Given the description of an element on the screen output the (x, y) to click on. 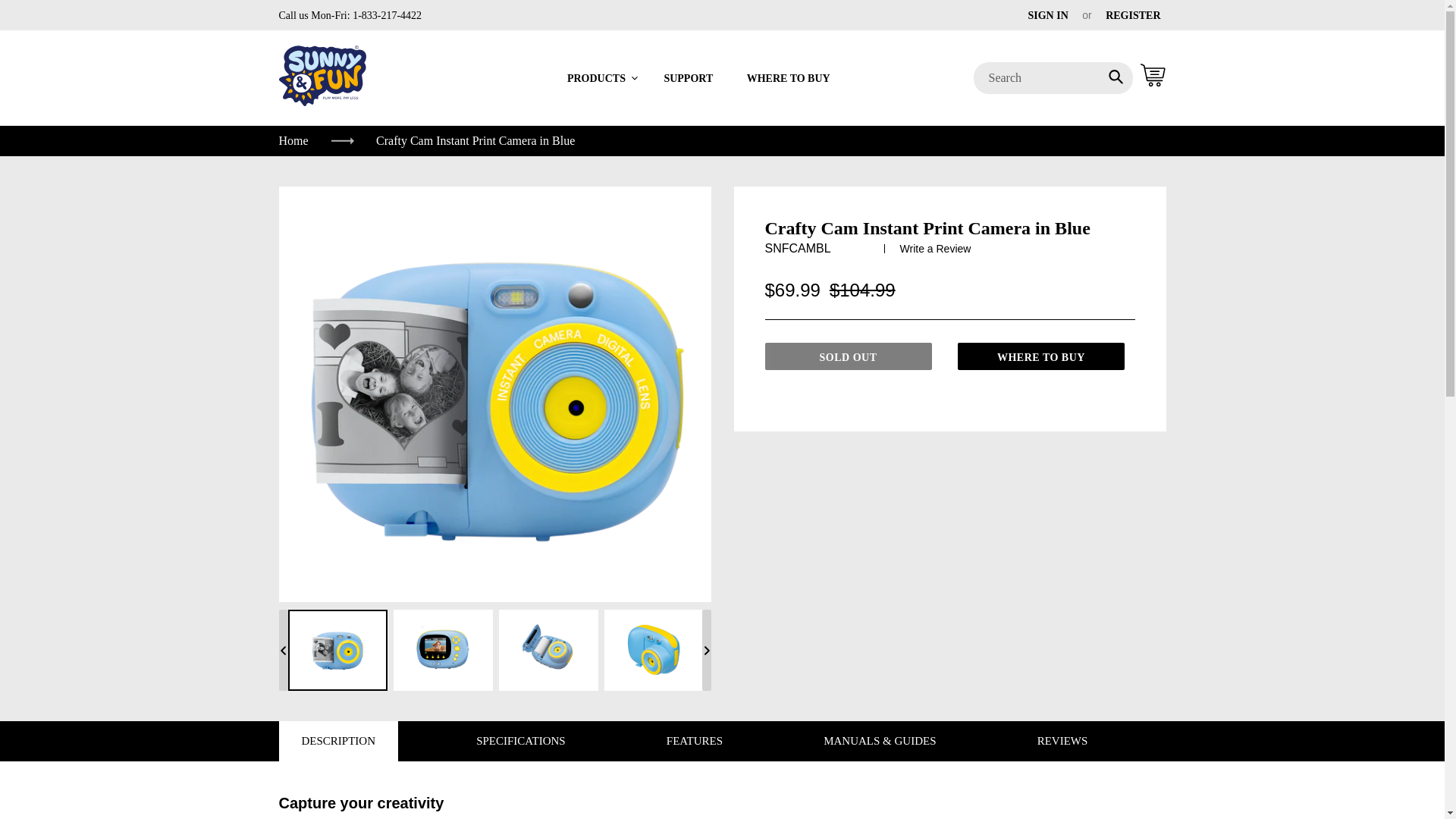
Cart (1149, 77)
Home (316, 140)
SPECIFICATIONS (520, 741)
PRODUCTS (602, 77)
SUPPORT (687, 77)
REGISTER (1132, 15)
SIGN IN (1047, 15)
WHERE TO BUY (788, 77)
FEATURES (694, 741)
REVIEWS (1062, 741)
DESCRIPTION (338, 741)
1-833-217-4422 (386, 15)
Submit (1115, 78)
Home (316, 140)
